Given the description of an element on the screen output the (x, y) to click on. 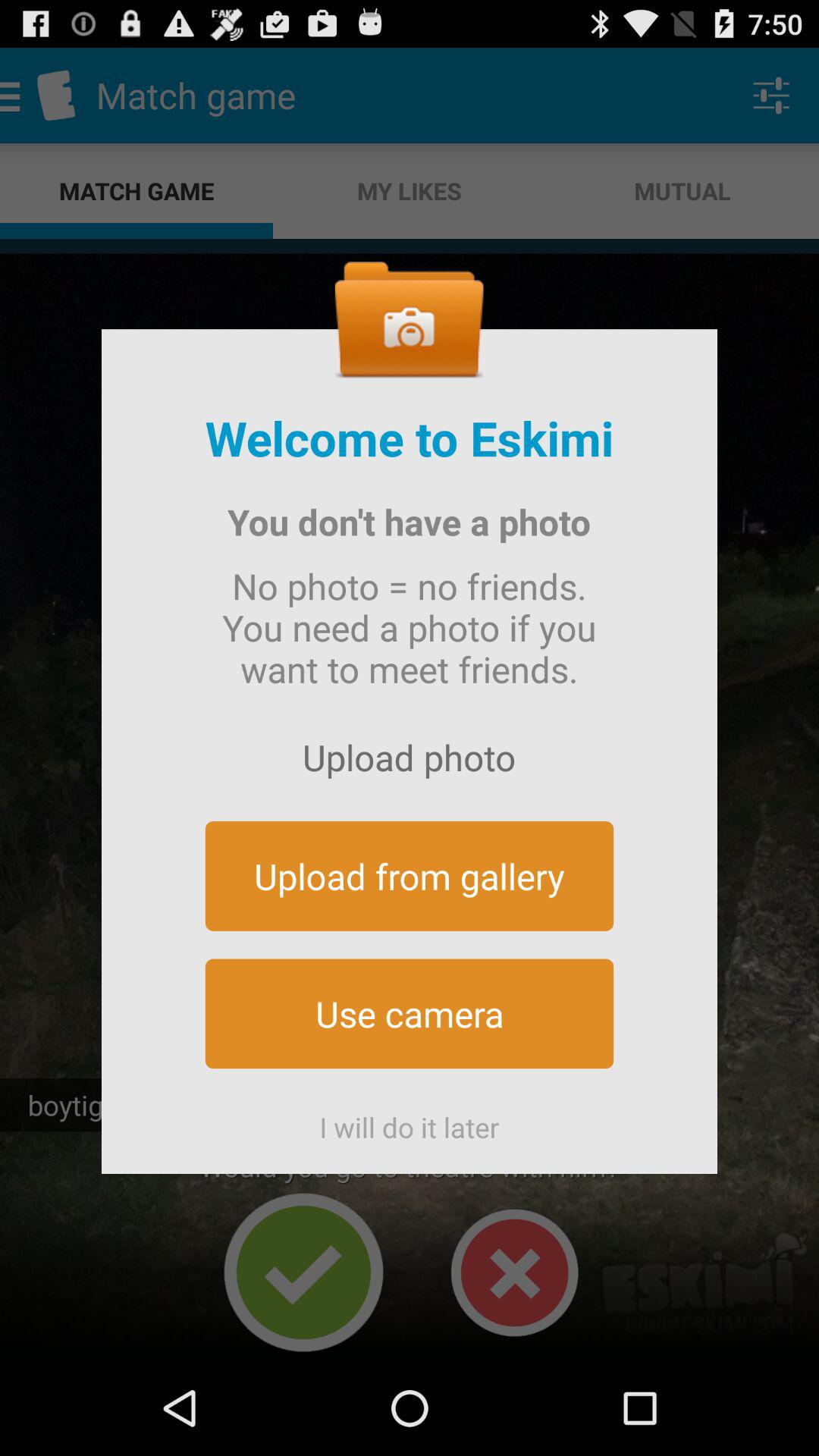
swipe until the i will do item (409, 1120)
